Given the description of an element on the screen output the (x, y) to click on. 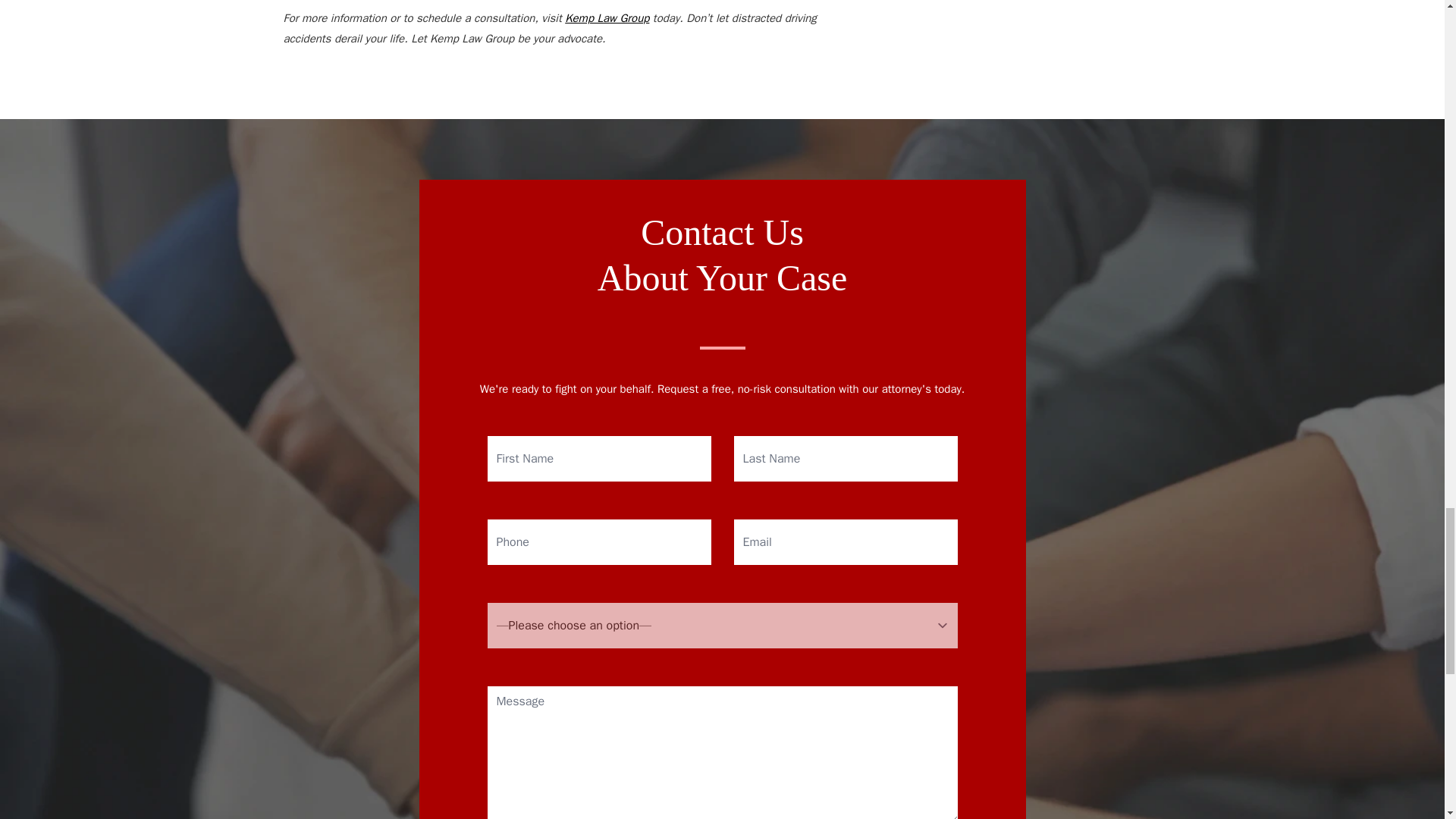
Kemp Law Group (606, 18)
